Given the description of an element on the screen output the (x, y) to click on. 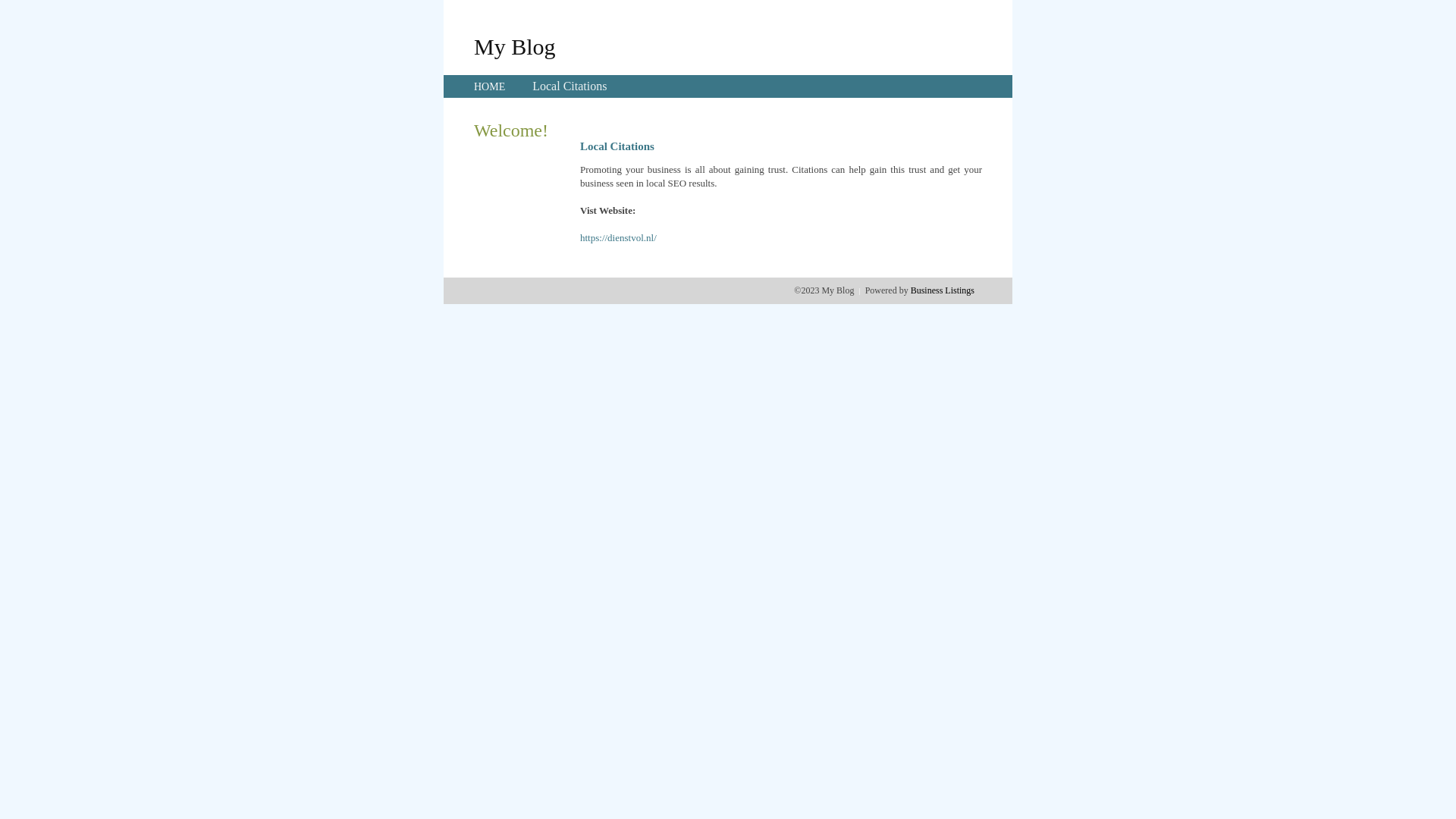
Local Citations Element type: text (569, 85)
My Blog Element type: text (514, 46)
Business Listings Element type: text (942, 290)
https://dienstvol.nl/ Element type: text (618, 237)
HOME Element type: text (489, 86)
